Given the description of an element on the screen output the (x, y) to click on. 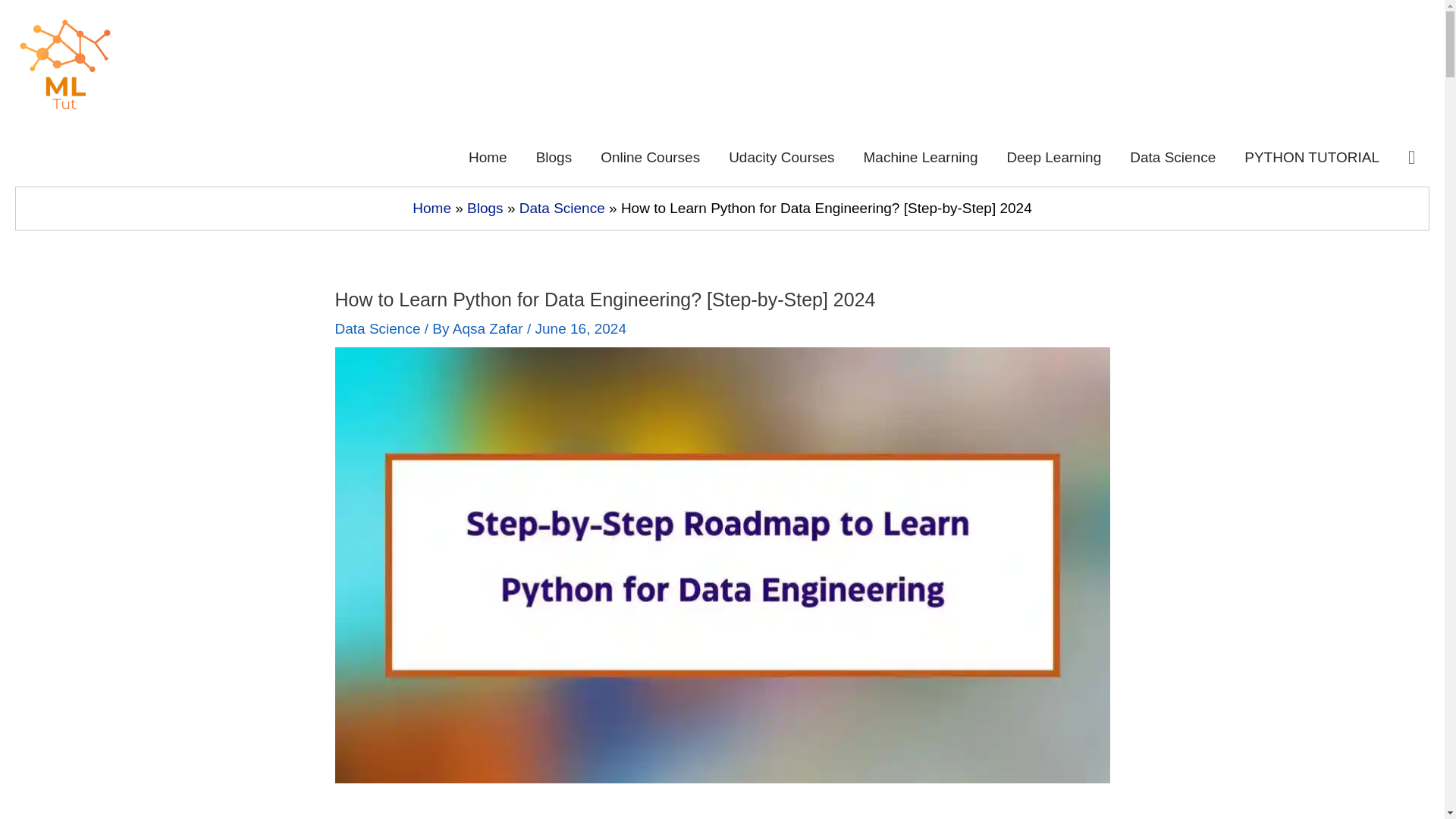
Data Science (377, 328)
Data Science (562, 207)
Online Courses (650, 157)
Aqsa Zafar (489, 328)
Blogs (485, 207)
View all posts by Aqsa Zafar (489, 328)
Home (431, 207)
Deep Learning (1054, 157)
Blogs (553, 157)
Data Science (1172, 157)
Udacity Courses (781, 157)
Home (487, 157)
PYTHON TUTORIAL (1311, 157)
Machine Learning (920, 157)
